Given the description of an element on the screen output the (x, y) to click on. 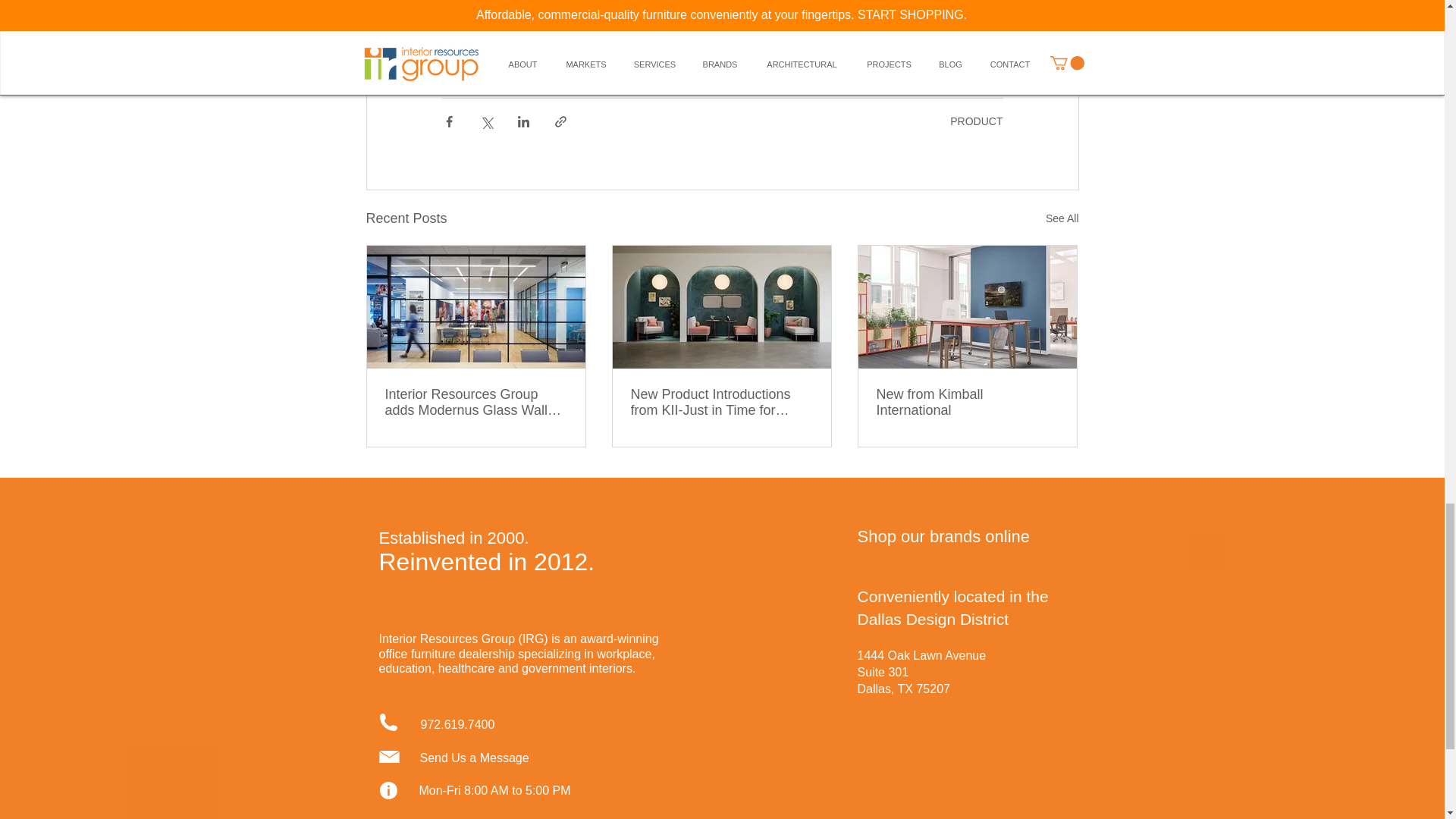
See All (1061, 219)
New Product Introductions from KII-Just in Time for NeoCon (721, 402)
PRODUCT (976, 121)
